Given the description of an element on the screen output the (x, y) to click on. 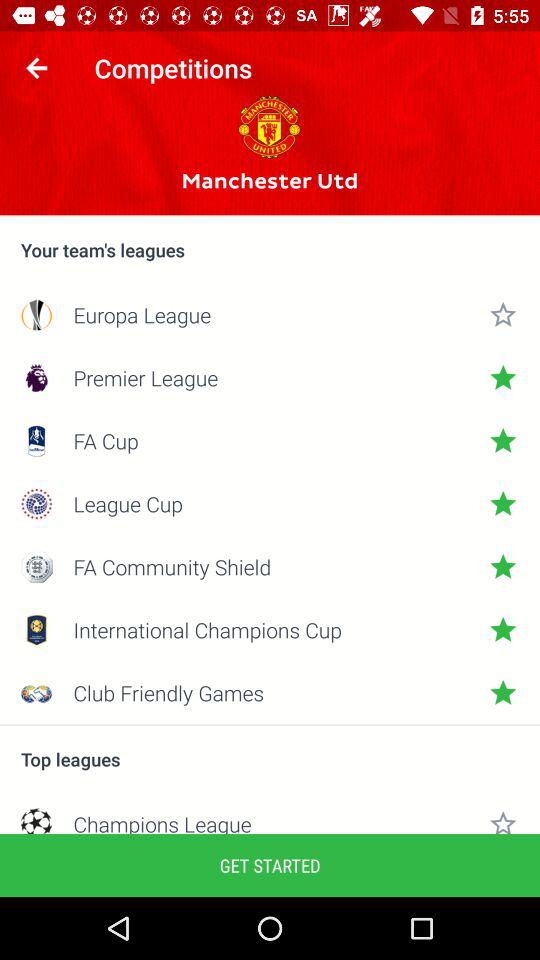
open the fa cup item (269, 440)
